Given the description of an element on the screen output the (x, y) to click on. 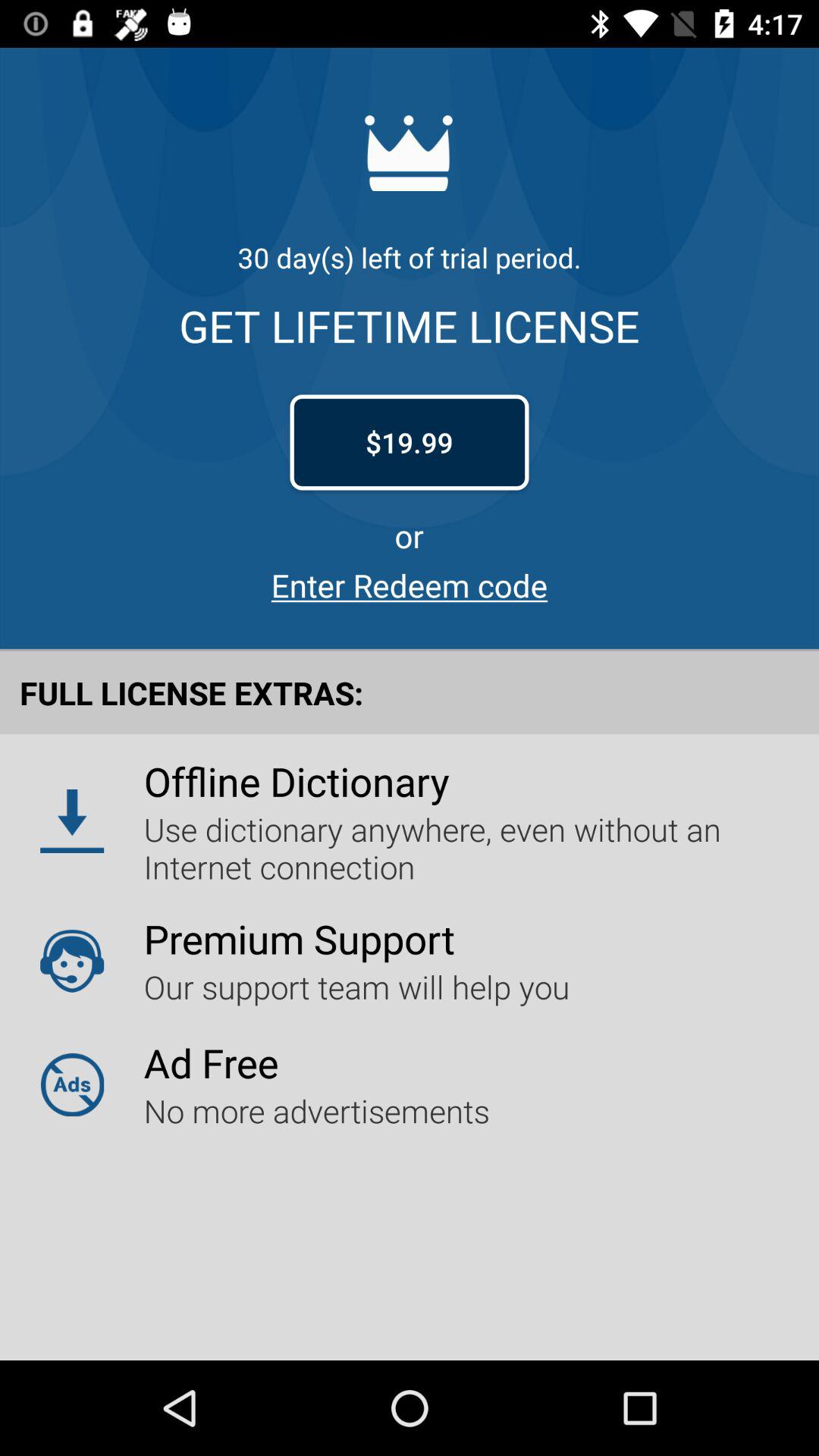
choose $19.99 (409, 442)
